Given the description of an element on the screen output the (x, y) to click on. 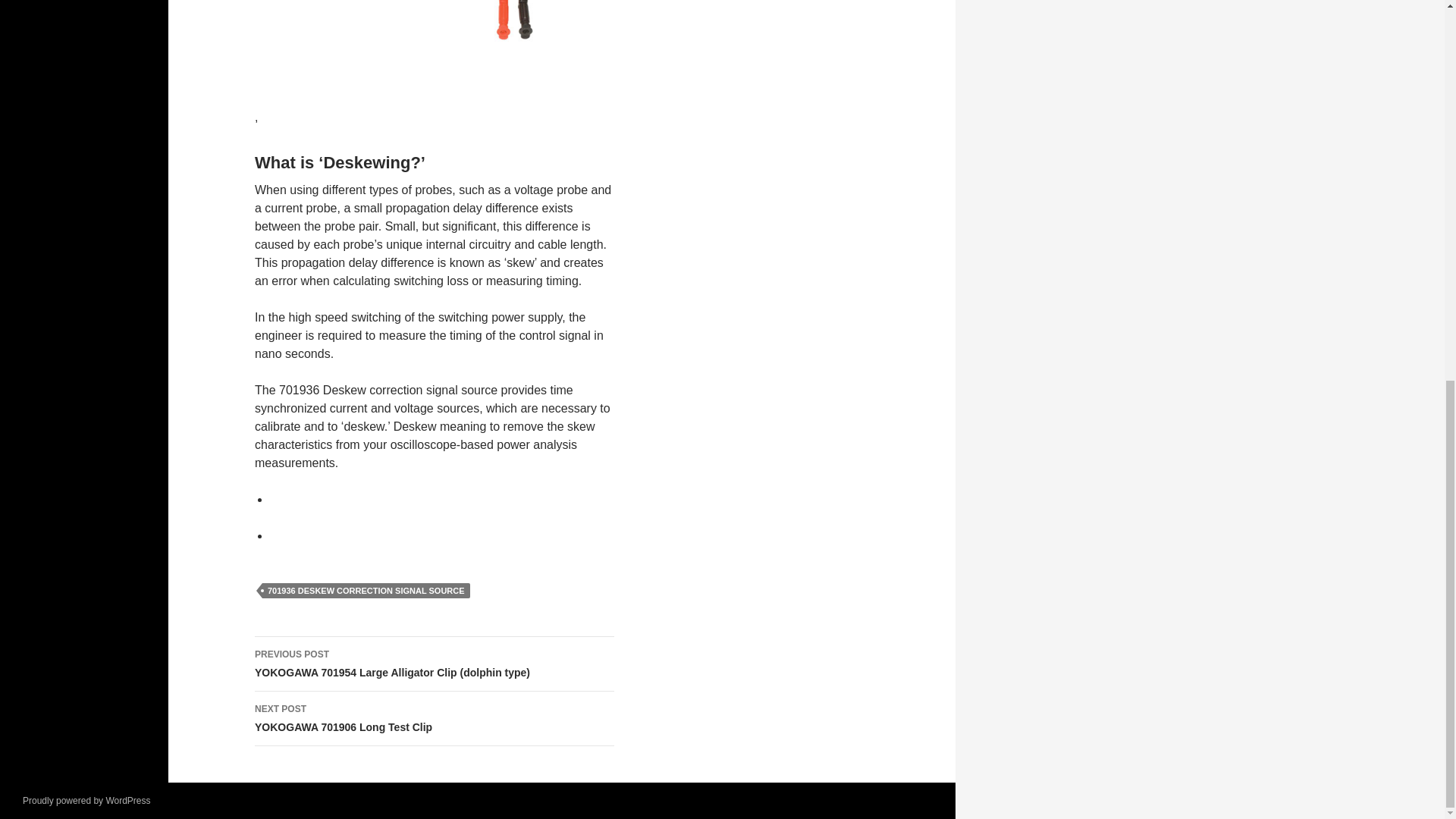
Proudly powered by WordPress (87, 800)
701936 DESKEW CORRECTION SIGNAL SOURCE (366, 590)
